Given the description of an element on the screen output the (x, y) to click on. 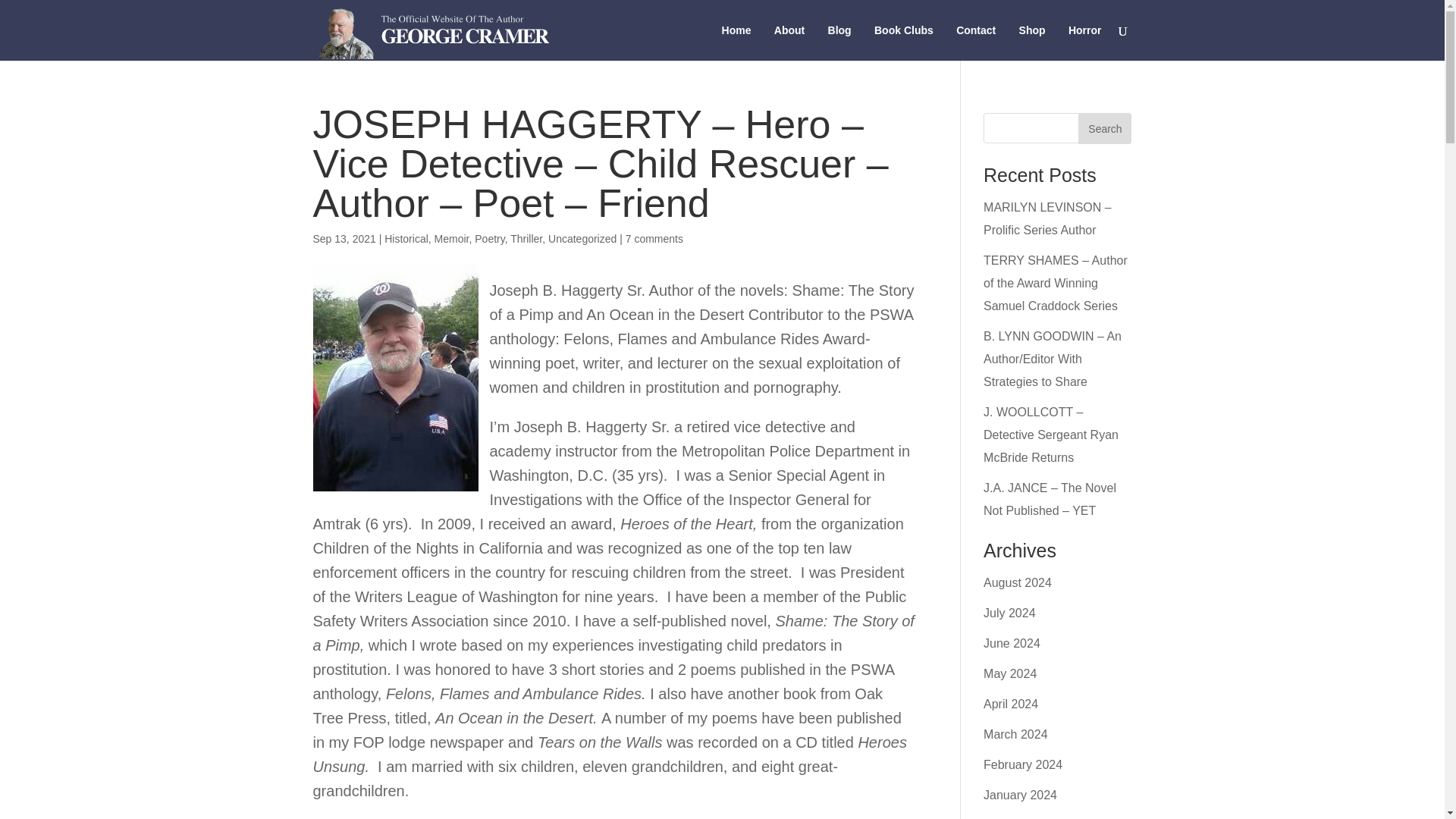
August 2024 (1017, 582)
July 2024 (1009, 612)
7 comments (654, 238)
Book Clubs (904, 42)
Memoir (450, 238)
Historical (406, 238)
June 2024 (1012, 643)
Poetry (488, 238)
Contact (975, 42)
Horror (1085, 42)
